Given the description of an element on the screen output the (x, y) to click on. 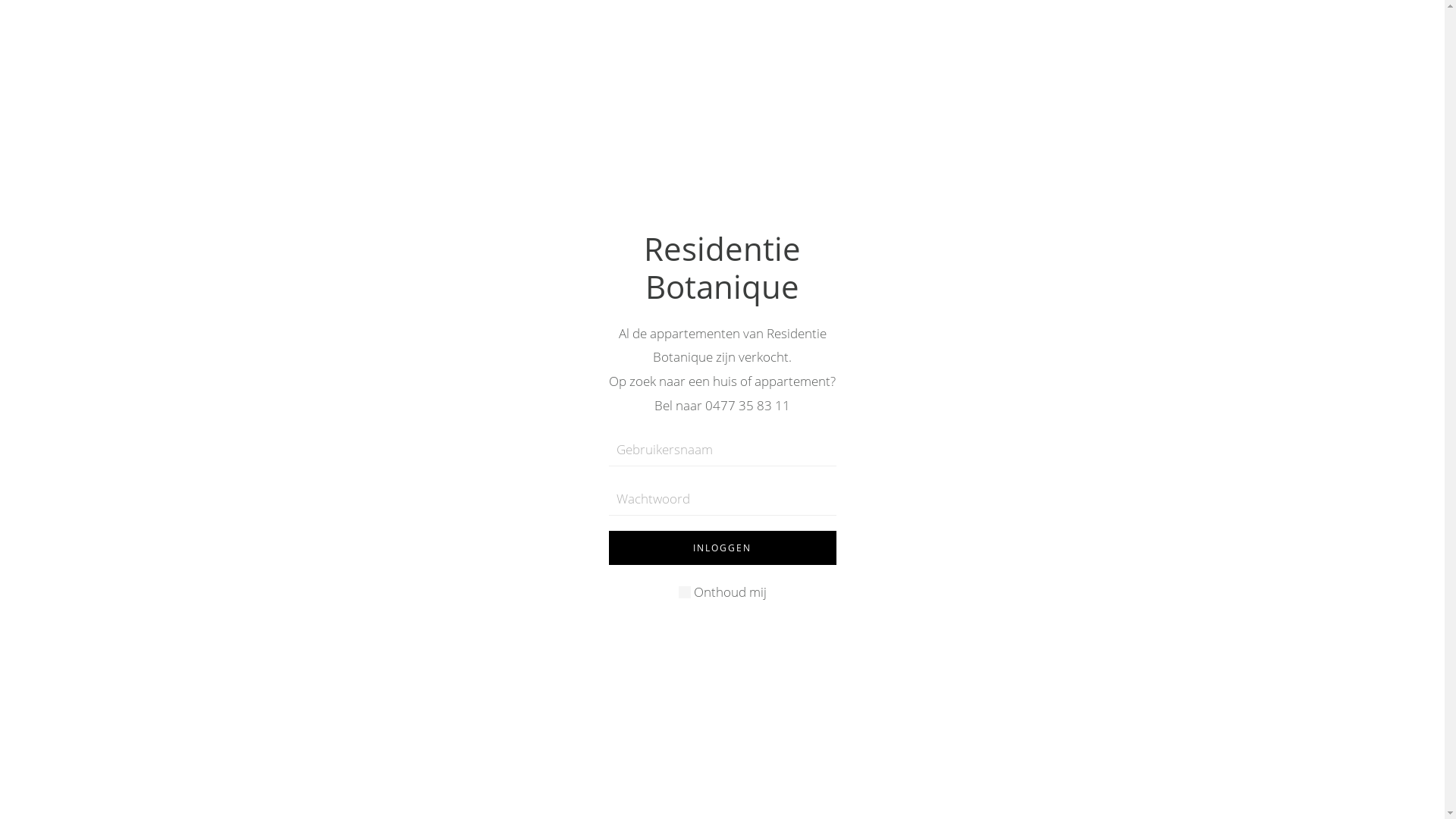
INLOGGEN Element type: text (721, 547)
